Given the description of an element on the screen output the (x, y) to click on. 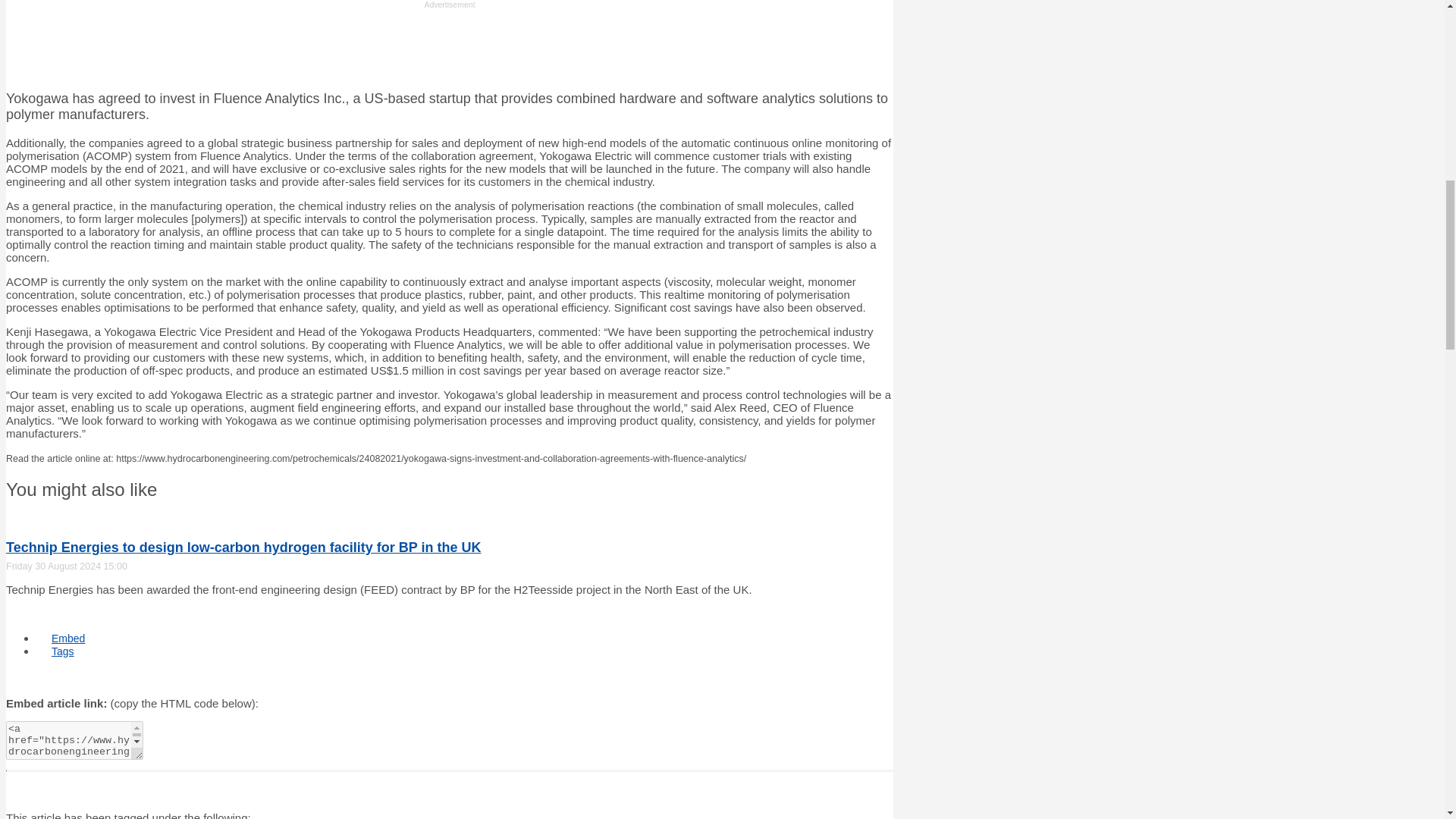
Tags (62, 651)
Embed (68, 637)
